Given the description of an element on the screen output the (x, y) to click on. 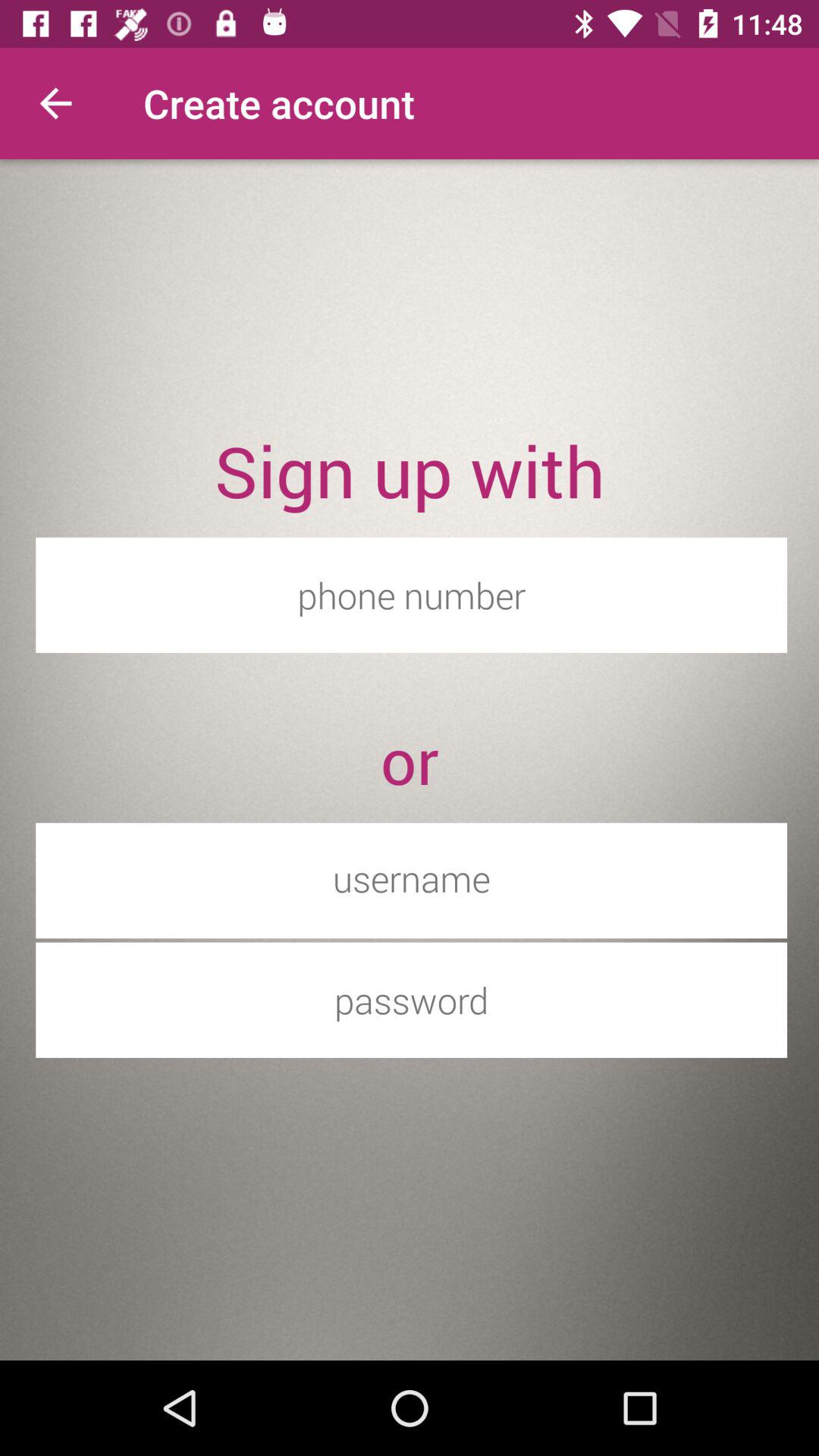
press the icon below or item (411, 878)
